Given the description of an element on the screen output the (x, y) to click on. 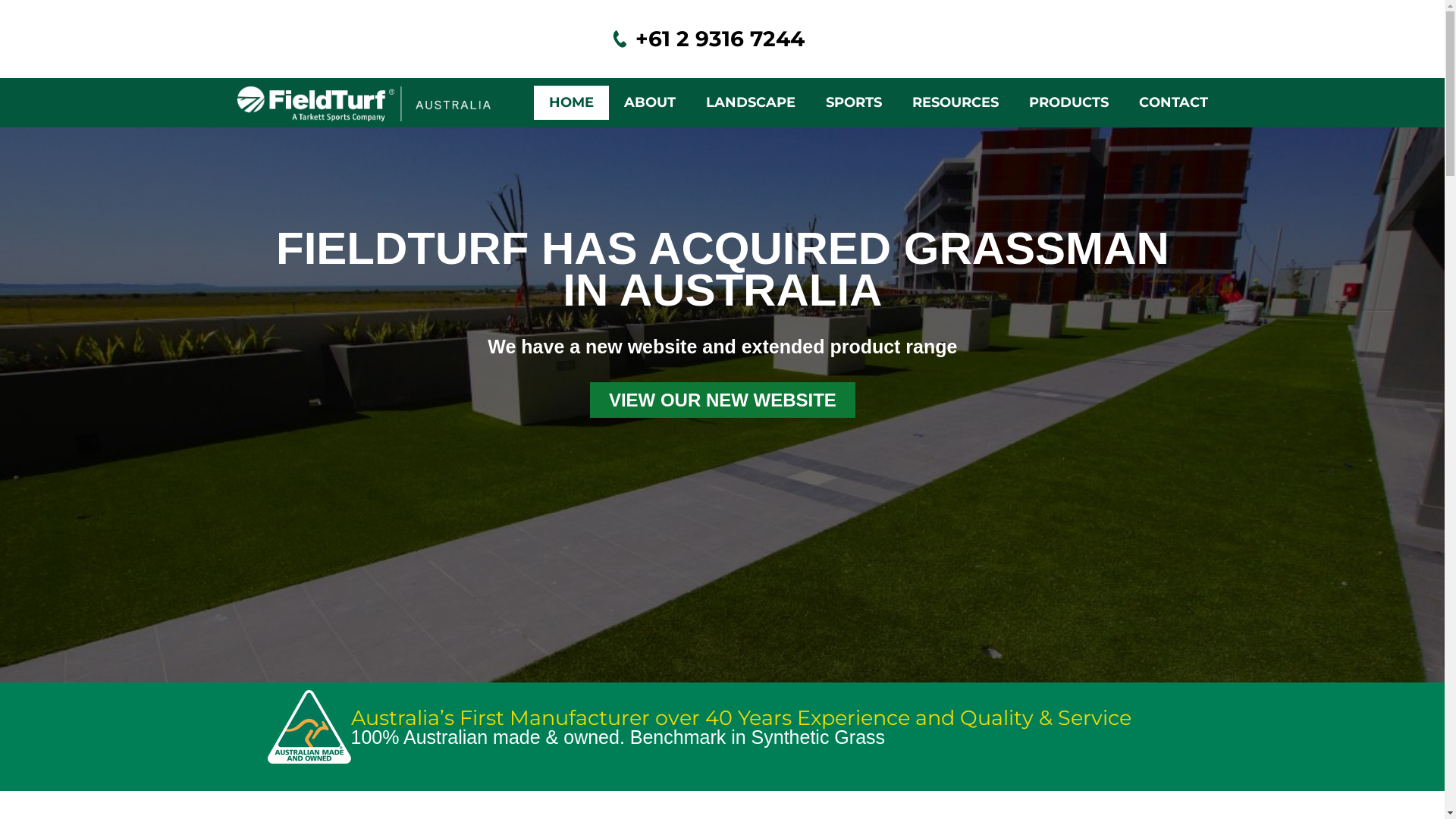
HOME Element type: text (570, 102)
PRODUCTS Element type: text (1068, 102)
Grassman Element type: hover (350, 102)
VIEW OUR NEW WEBSITE Element type: text (722, 399)
RESOURCES Element type: text (954, 102)
LANDSCAPE Element type: text (749, 102)
CONTACT Element type: text (1173, 102)
+61 2 9316 7244 Element type: text (719, 38)
ABOUT Element type: text (649, 102)
SPORTS Element type: text (852, 102)
